Given the description of an element on the screen output the (x, y) to click on. 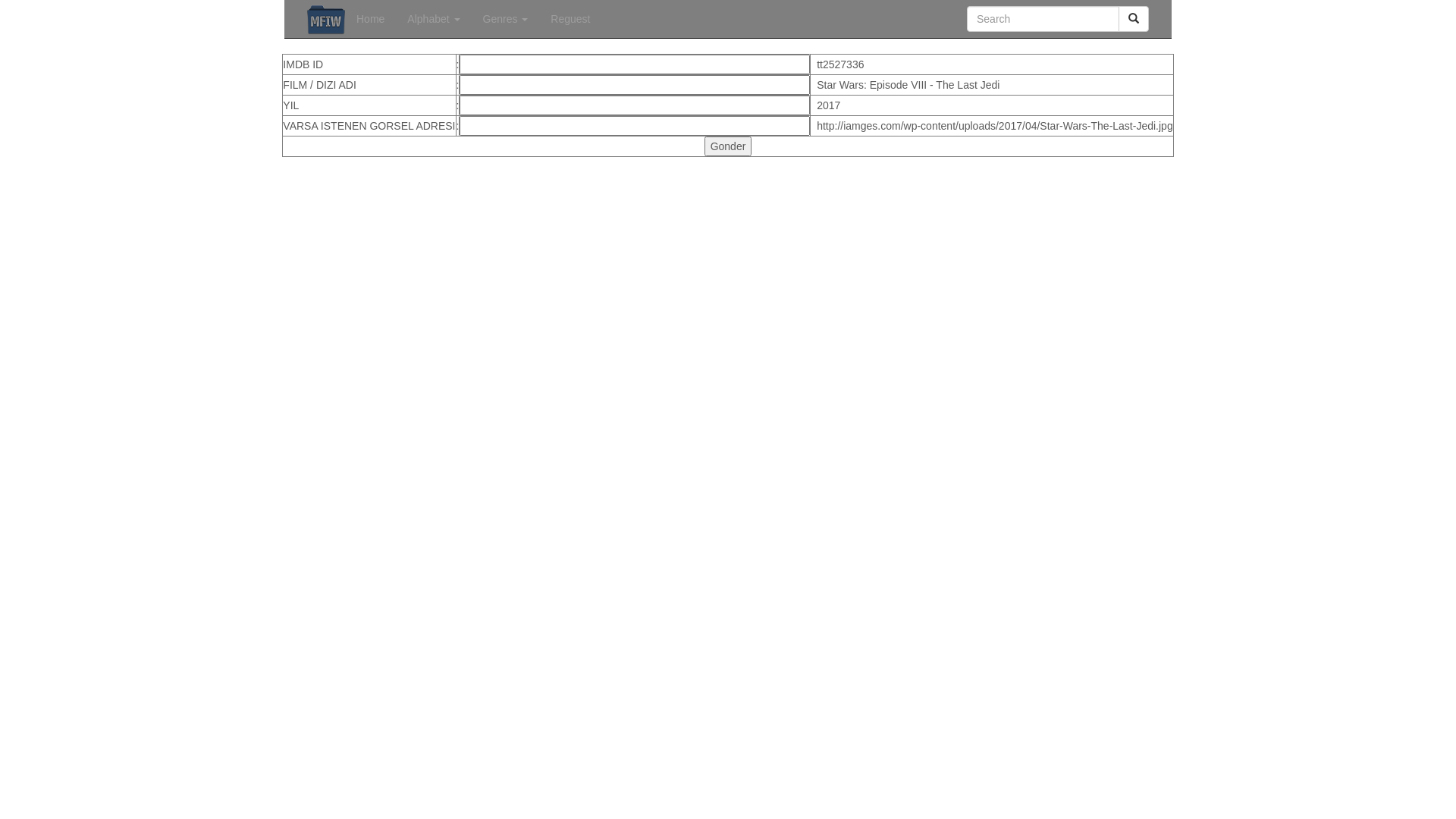
Genres Element type: text (505, 18)
Gonder Element type: text (728, 146)
Reguest Element type: text (570, 18)
Alphabet Element type: text (432, 18)
Home Element type: text (370, 18)
